Given the description of an element on the screen output the (x, y) to click on. 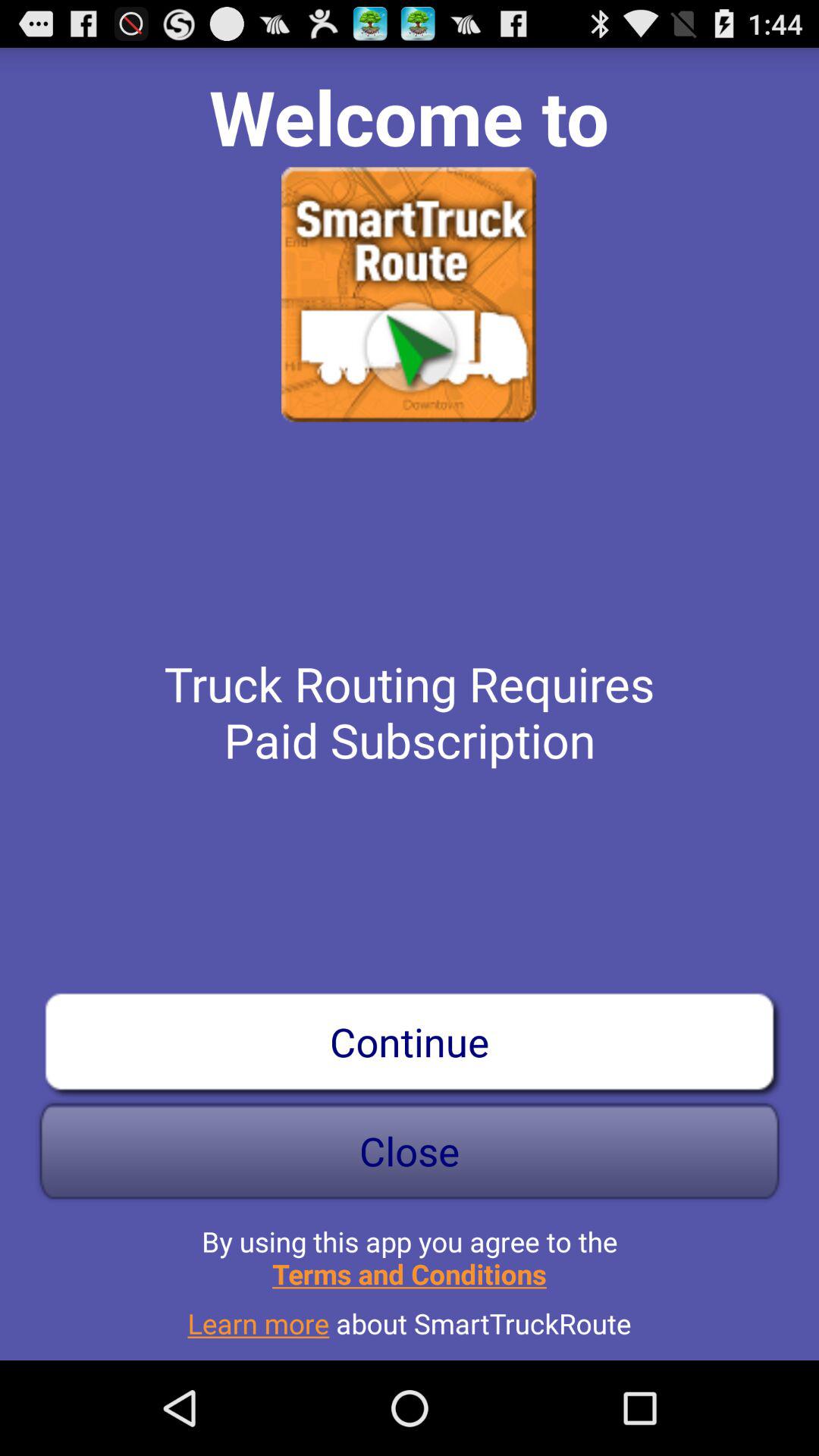
turn off the app above the learn more about (409, 1251)
